Given the description of an element on the screen output the (x, y) to click on. 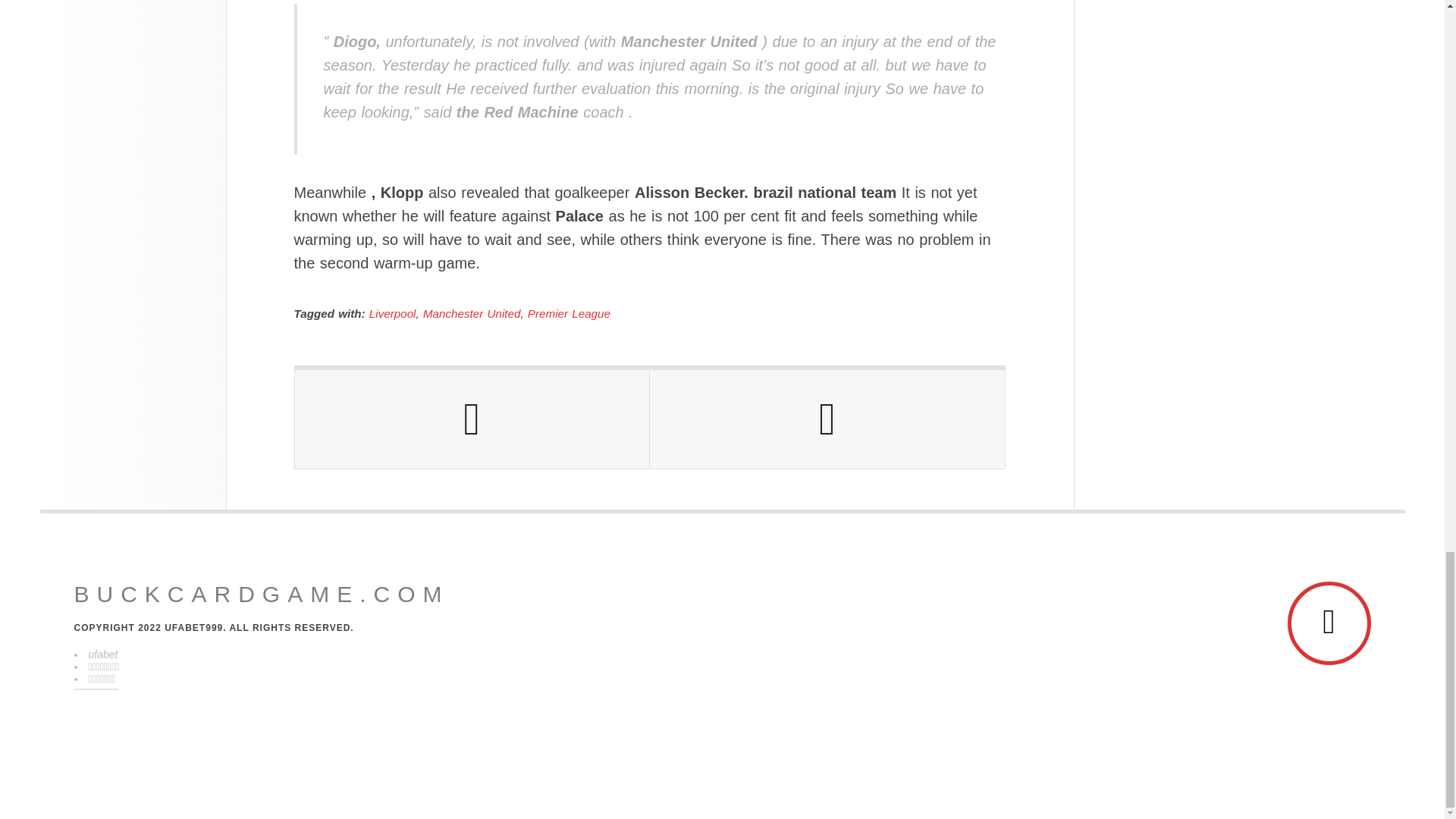
Premier League (568, 313)
BUCKCARDGAME.COM (261, 594)
Previous Post (471, 419)
Liverpool (392, 313)
buckcardgame.com (261, 594)
Next Post (826, 419)
Manchester United (471, 313)
ufabet (102, 654)
